Given the description of an element on the screen output the (x, y) to click on. 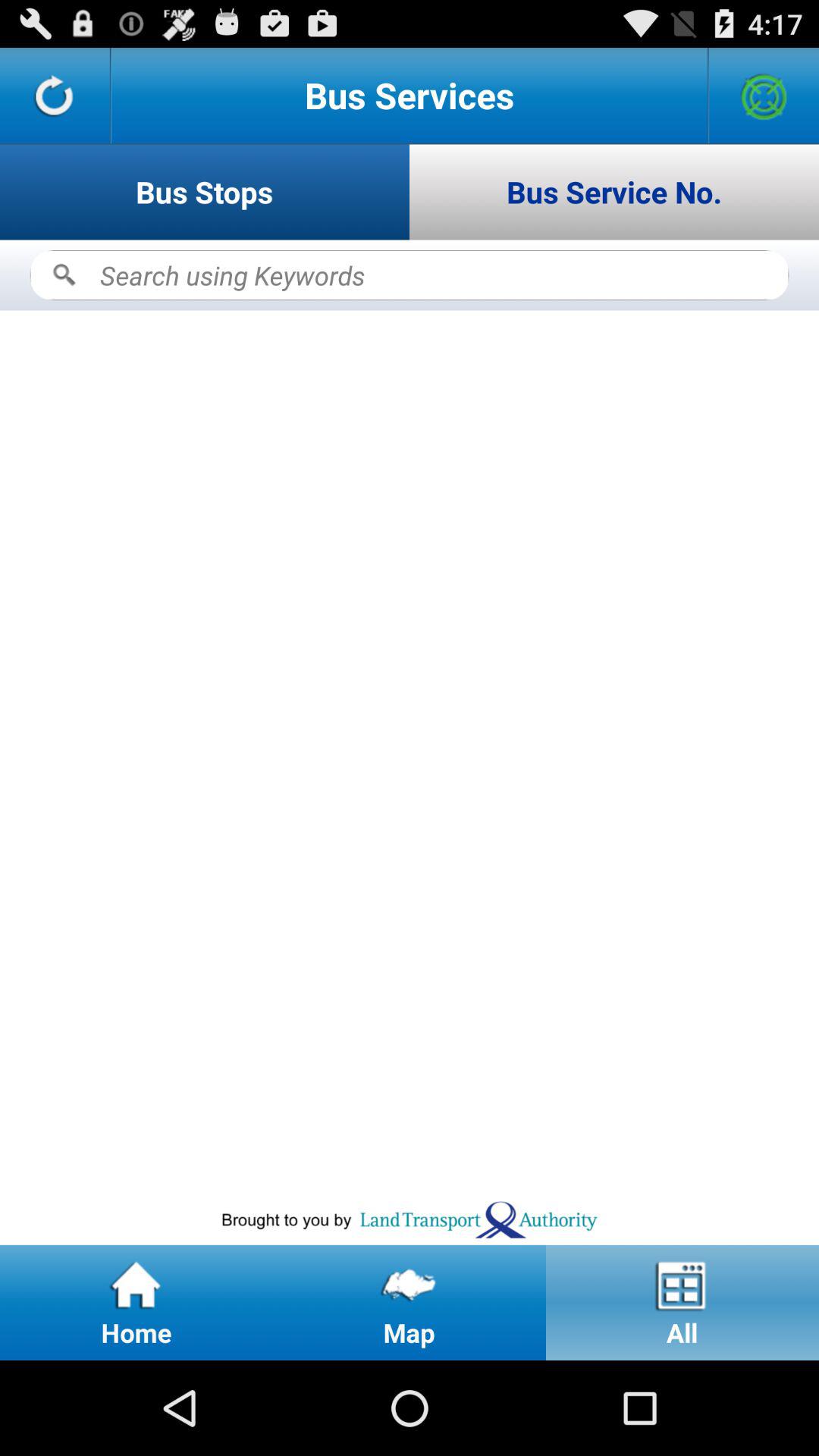
refresh the page (54, 95)
